Given the description of an element on the screen output the (x, y) to click on. 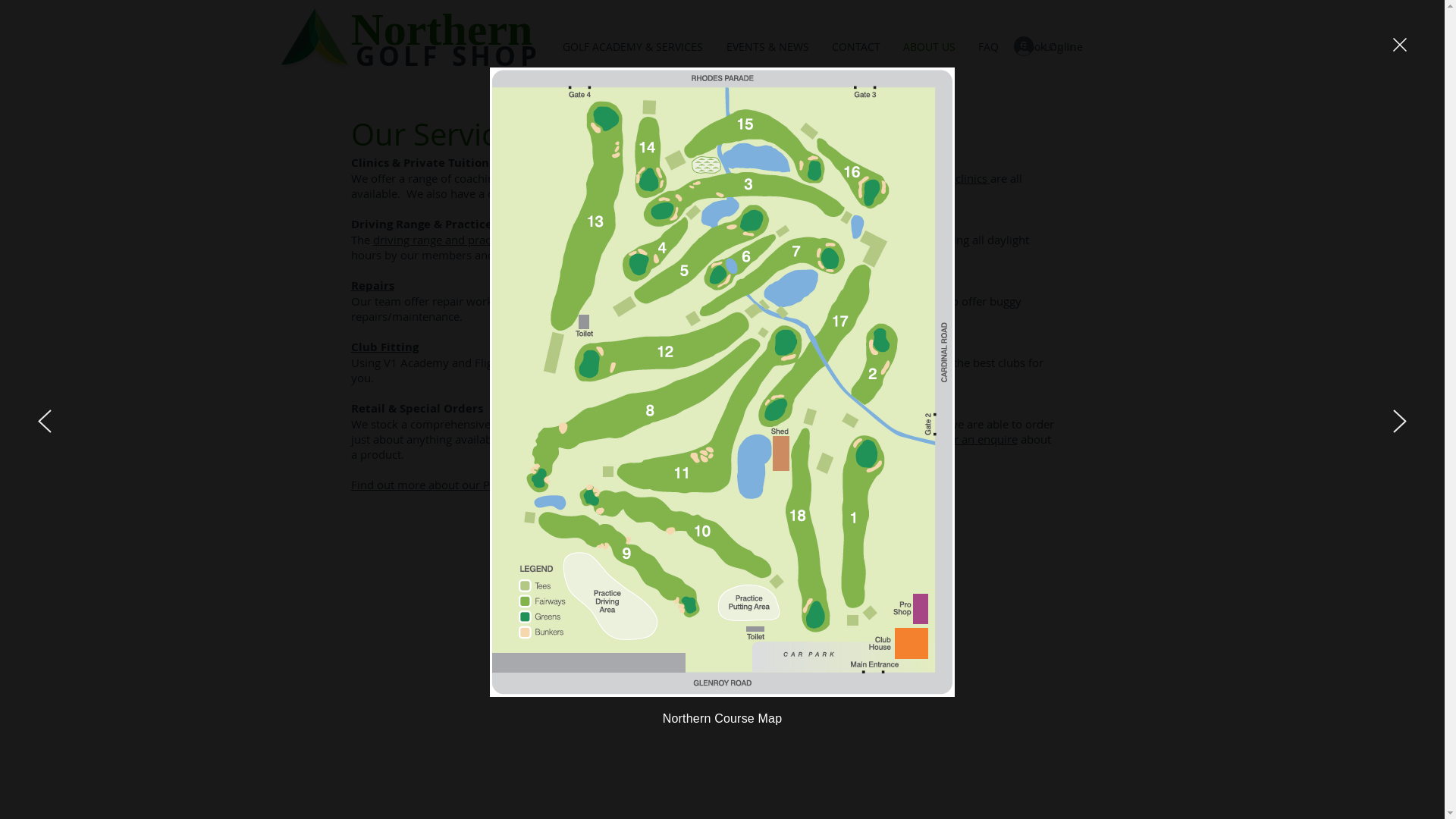
private tuition Element type: text (817, 177)
GOLF SHOP Element type: text (446, 55)
repair work Element type: text (463, 299)
Find out more about our Price Match Guarantee Element type: text (475, 483)
junior program Element type: text (609, 192)
CONTACT Element type: text (855, 46)
clinics Element type: text (972, 177)
Repairs Element type: text (371, 285)
Log In Element type: text (1043, 45)
order or an enquire Element type: text (965, 437)
FAQ Element type: text (987, 46)
Book Online Element type: text (1052, 46)
ABOUT US Element type: text (928, 46)
group tuition Element type: text (895, 177)
driving range and practice facilities Element type: text (465, 239)
Club Fitting Element type: text (383, 346)
Northern Element type: text (441, 28)
GOLF ACADEMY & SERVICES Element type: text (632, 46)
